Given the description of an element on the screen output the (x, y) to click on. 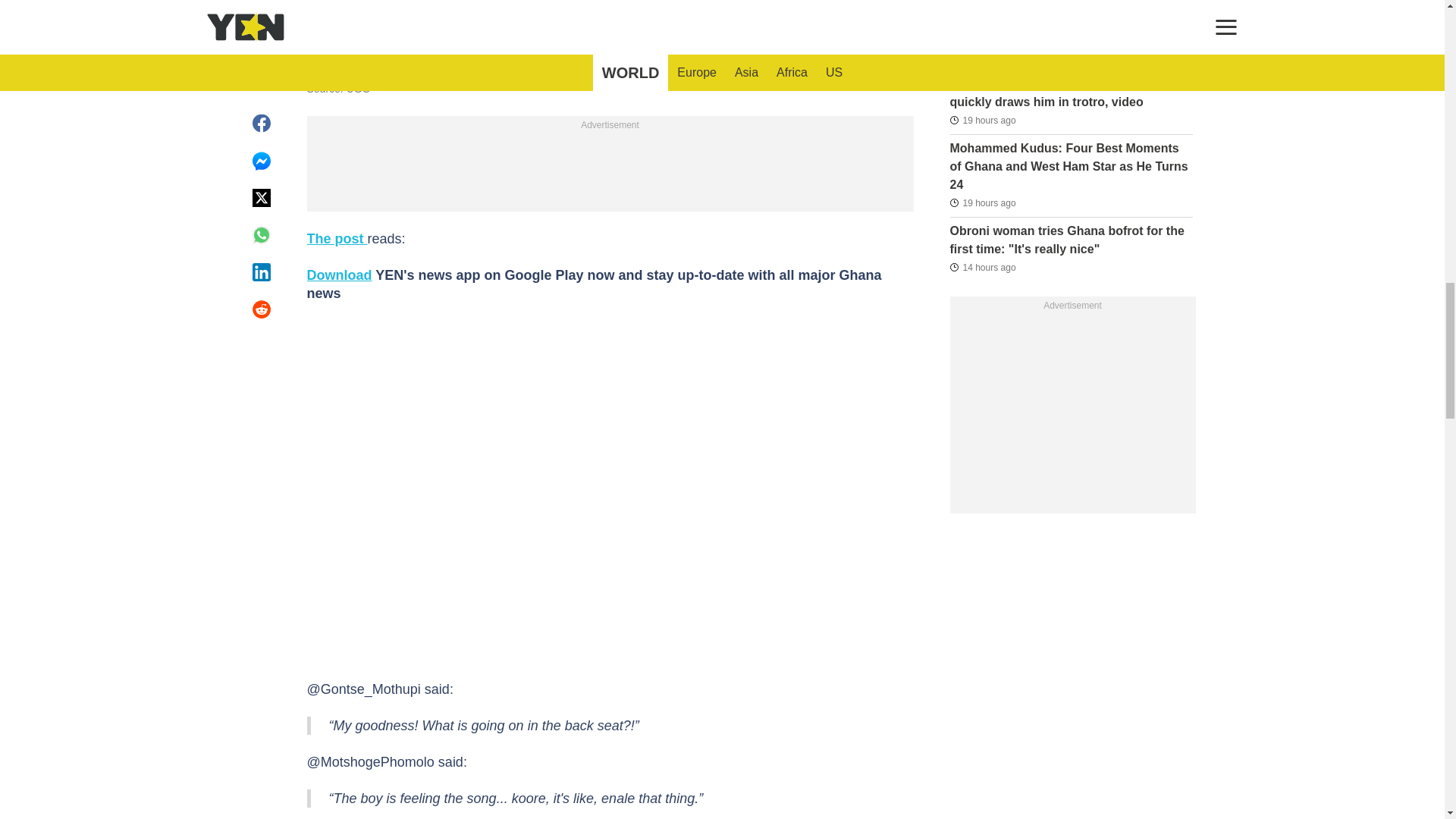
2024-08-02T18:30:47Z (981, 266)
2024-08-02T16:48:34Z (981, 55)
Little Boy, Sings, Internet, Hilarious, Video (609, 17)
2024-08-02T12:53:58Z (981, 119)
2024-08-02T12:45:26Z (981, 203)
